Given the description of an element on the screen output the (x, y) to click on. 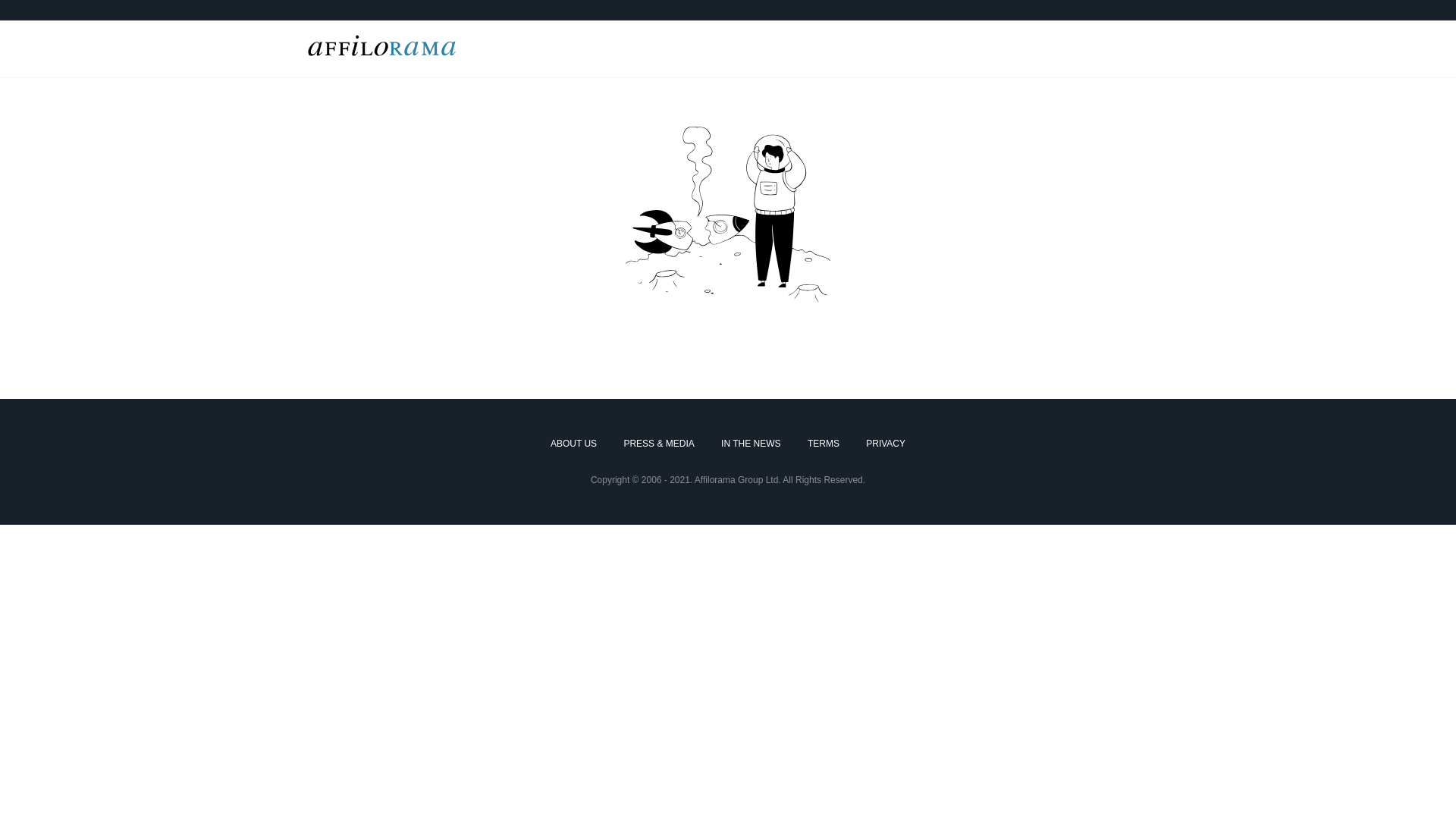
TERMS (824, 444)
PRIVACY (885, 444)
IN THE NEWS (750, 444)
ABOUT US (573, 444)
